Given the description of an element on the screen output the (x, y) to click on. 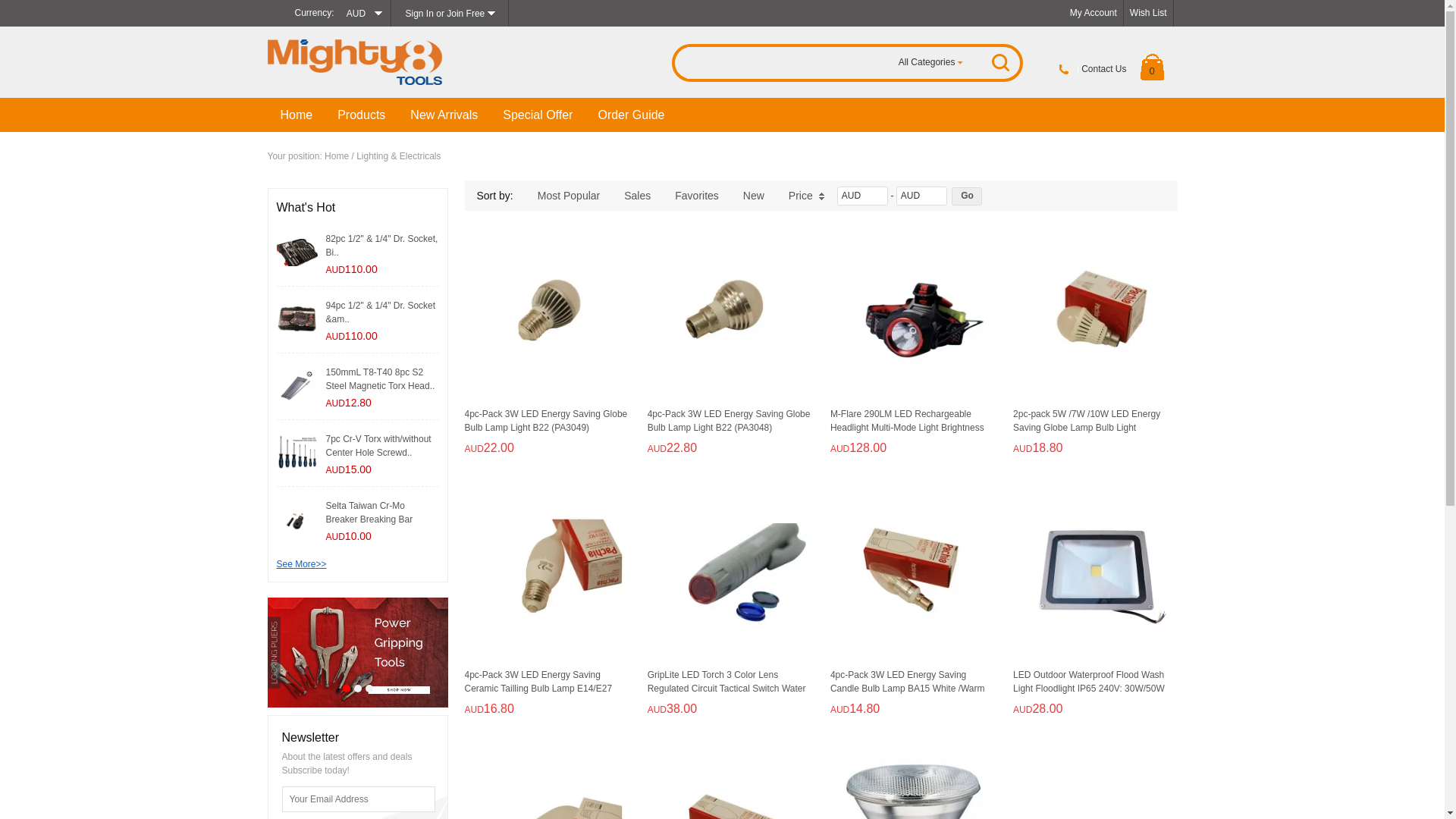
Products Element type: text (361, 114)
Contact Us Element type: text (1103, 68)
New Arrivals Element type: text (444, 114)
Sales Element type: text (636, 195)
Home Element type: text (297, 114)
New Element type: text (753, 195)
Wish List Element type: text (1148, 12)
7pc Cr-V Torx with/without Center Hole Screwd.. Element type: text (378, 445)
Favorites Element type: text (696, 195)
150mmL T8-T40 8pc S2 Steel Magnetic Torx Head.. Element type: text (380, 379)
Most Popular Element type: text (568, 195)
0 Element type: text (1152, 66)
Lighting & Electricals Element type: text (398, 155)
Sign In Element type: text (419, 13)
Home Element type: text (336, 155)
Order Guide Element type: text (631, 114)
Special Offer Element type: text (537, 114)
Price Element type: text (806, 195)
82pc 1/2" & 1/4" Dr. Socket, Bi.. Element type: text (382, 245)
My Account Element type: text (1093, 12)
Join Free Element type: text (465, 13)
94pc 1/2" & 1/4" Dr. Socket &am.. Element type: text (381, 312)
Selta Taiwan Cr-Mo Breaker Breaking Bar Repla.. Element type: text (369, 519)
See More>> Element type: text (301, 563)
